Given the description of an element on the screen output the (x, y) to click on. 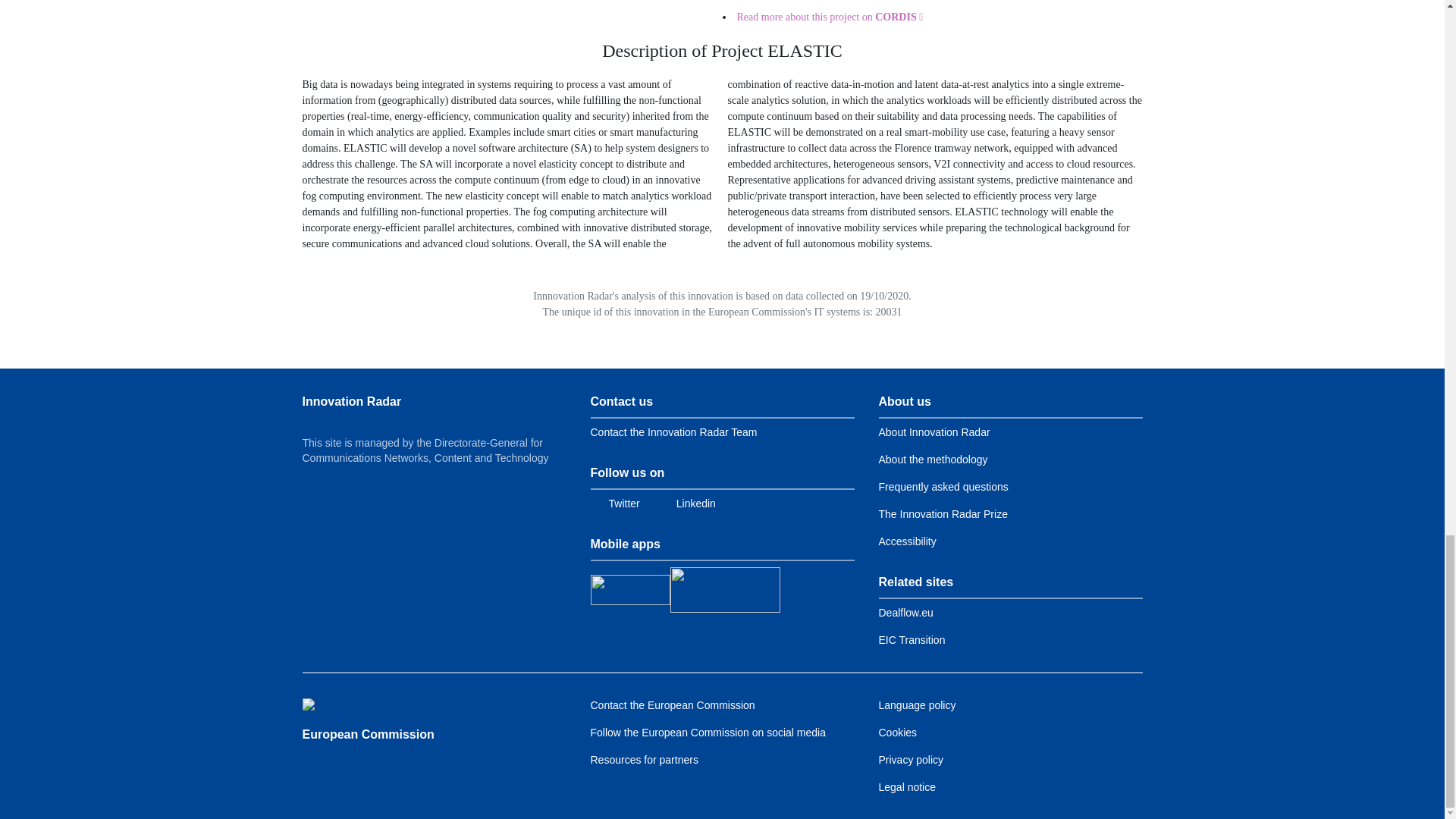
About the methodology (932, 459)
About Innovation Radar (933, 431)
Dealflow.eu (905, 612)
Linkedin (687, 503)
Accessibility (906, 541)
European Commission (382, 705)
Contact the Innovation Radar Team (673, 431)
EIC Transition (910, 639)
Innovation Radar (351, 400)
Twitter (614, 503)
